Given the description of an element on the screen output the (x, y) to click on. 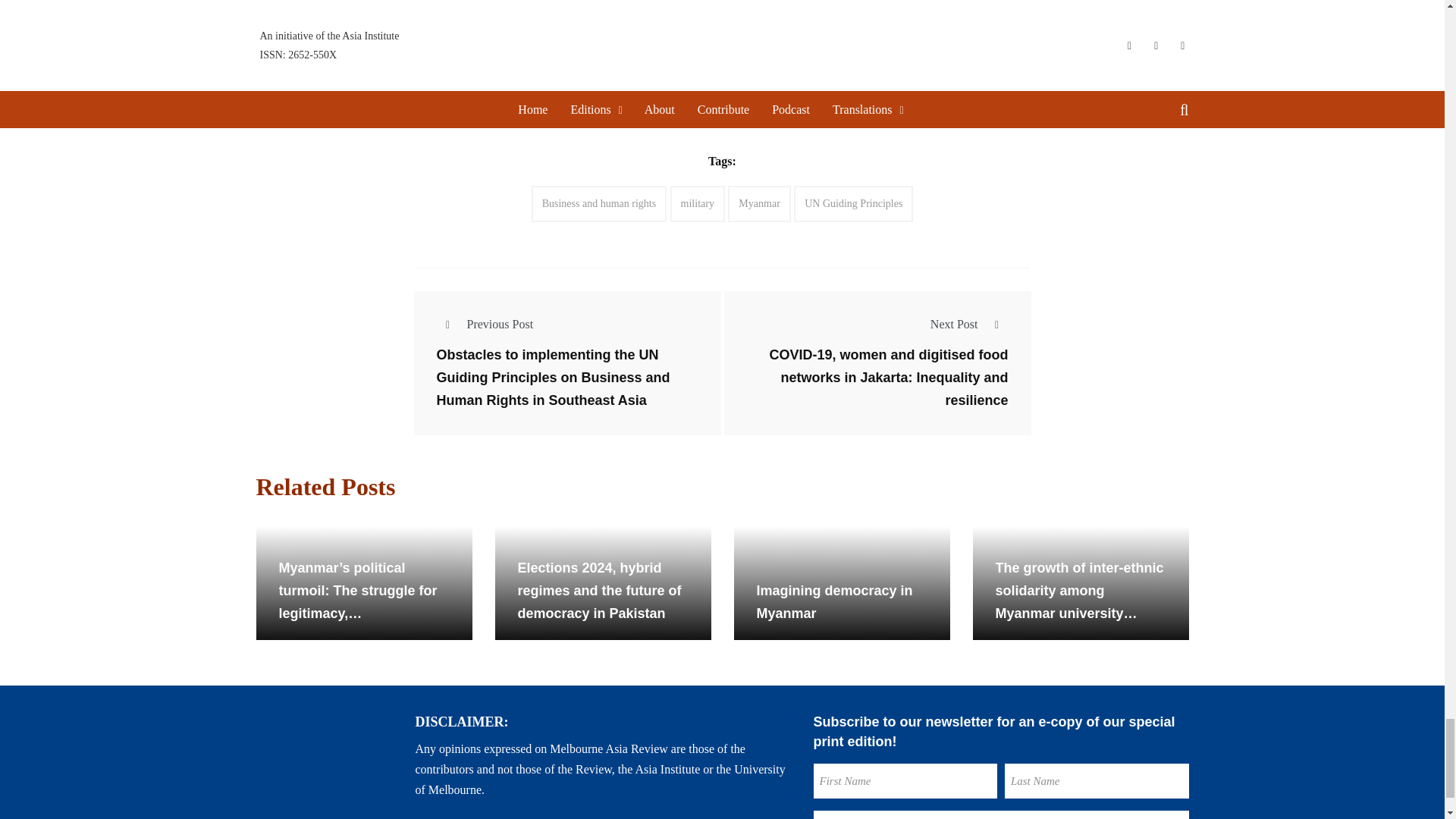
Imagining democracy in Myanmar (841, 582)
